Given the description of an element on the screen output the (x, y) to click on. 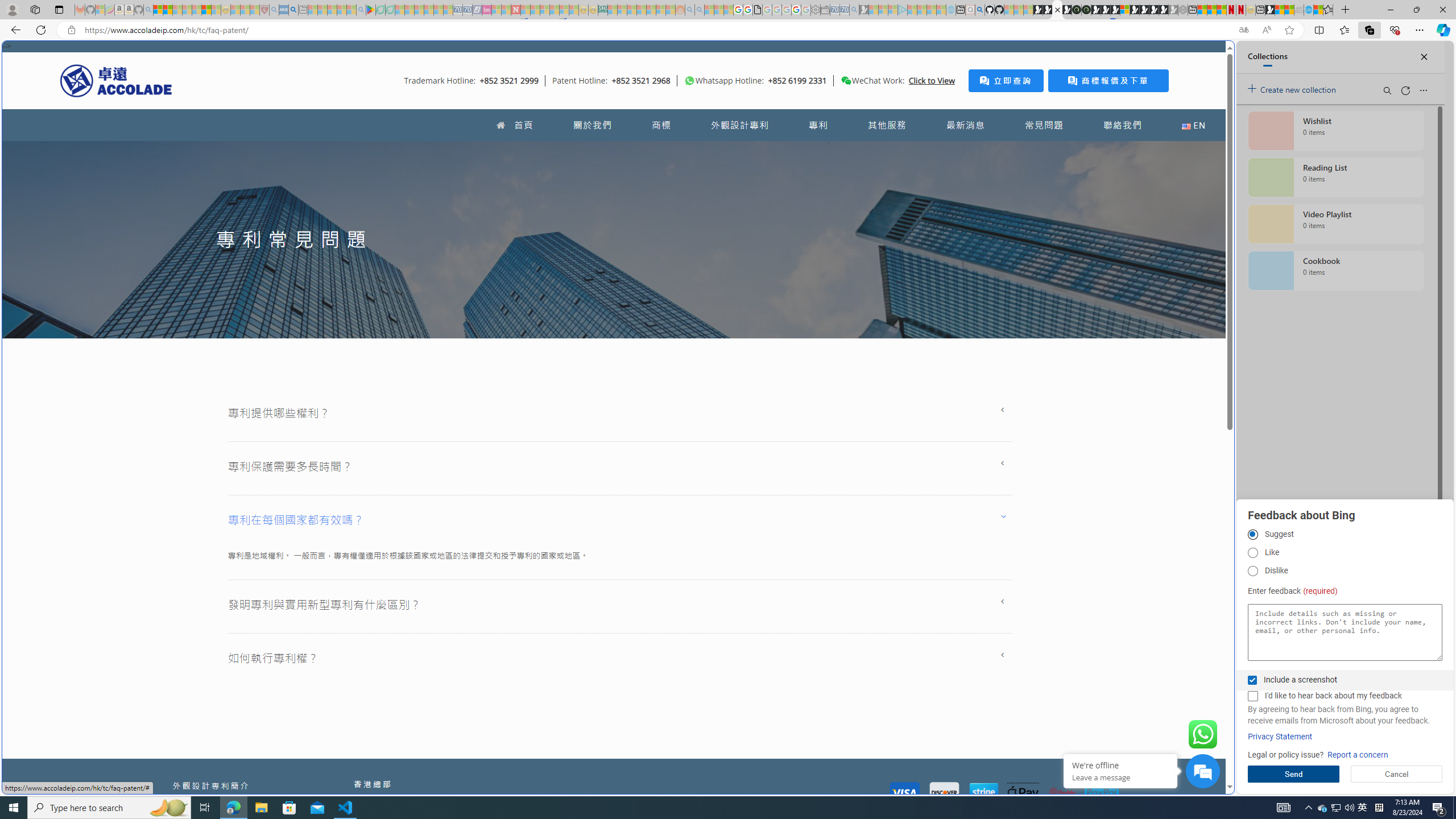
Expert Portfolios - Sleeping (640, 9)
Class: desktop (845, 80)
